Given the description of an element on the screen output the (x, y) to click on. 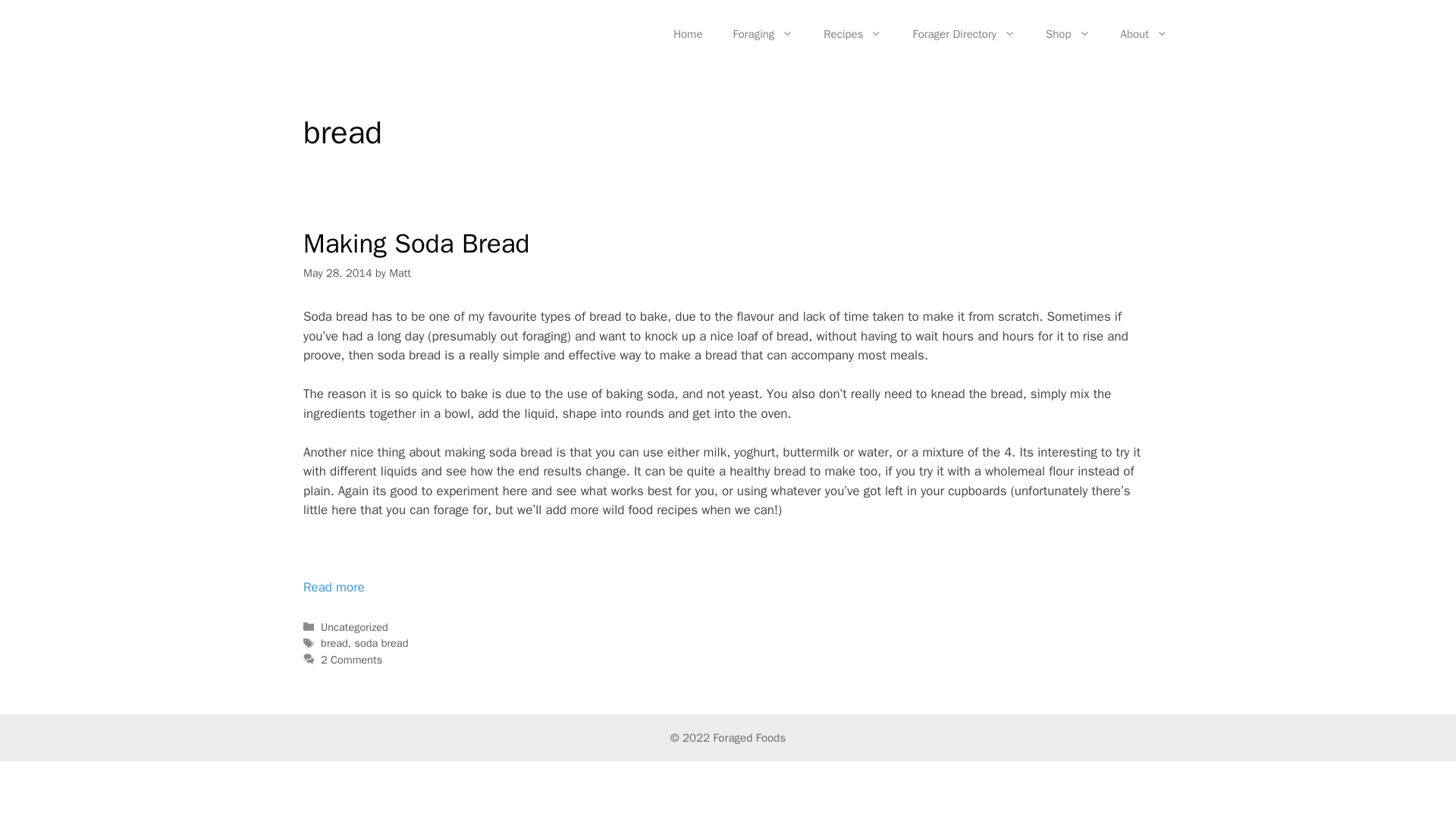
Recipes (852, 33)
Making Soda Bread (415, 243)
Read more (333, 587)
About (1143, 33)
Foraging (762, 33)
bread (333, 643)
Uncategorized (354, 626)
soda bread (382, 643)
2 Comments (350, 659)
Matt (399, 273)
